Given the description of an element on the screen output the (x, y) to click on. 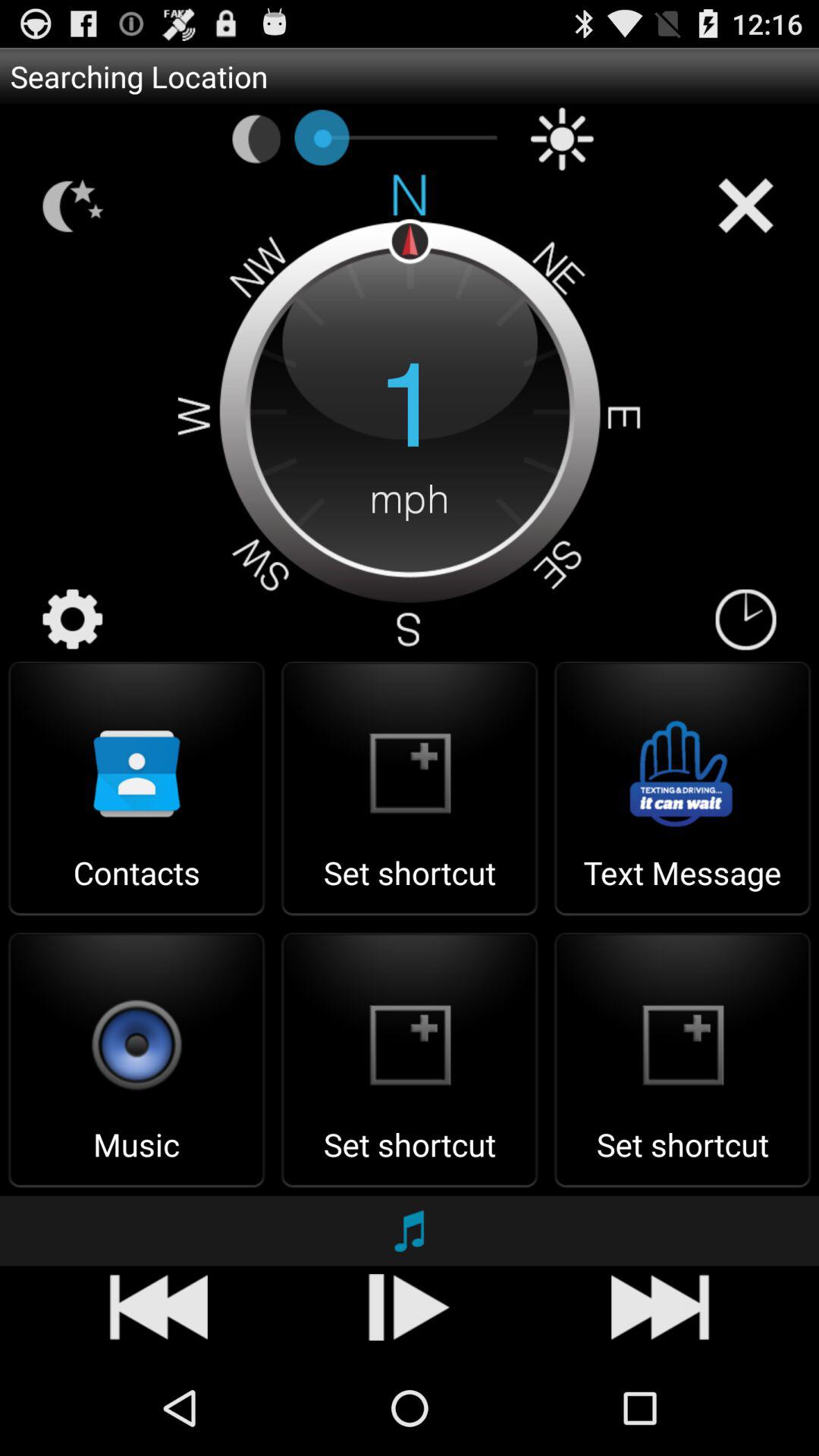
turn on the icon above the 1 (561, 138)
